Given the description of an element on the screen output the (x, y) to click on. 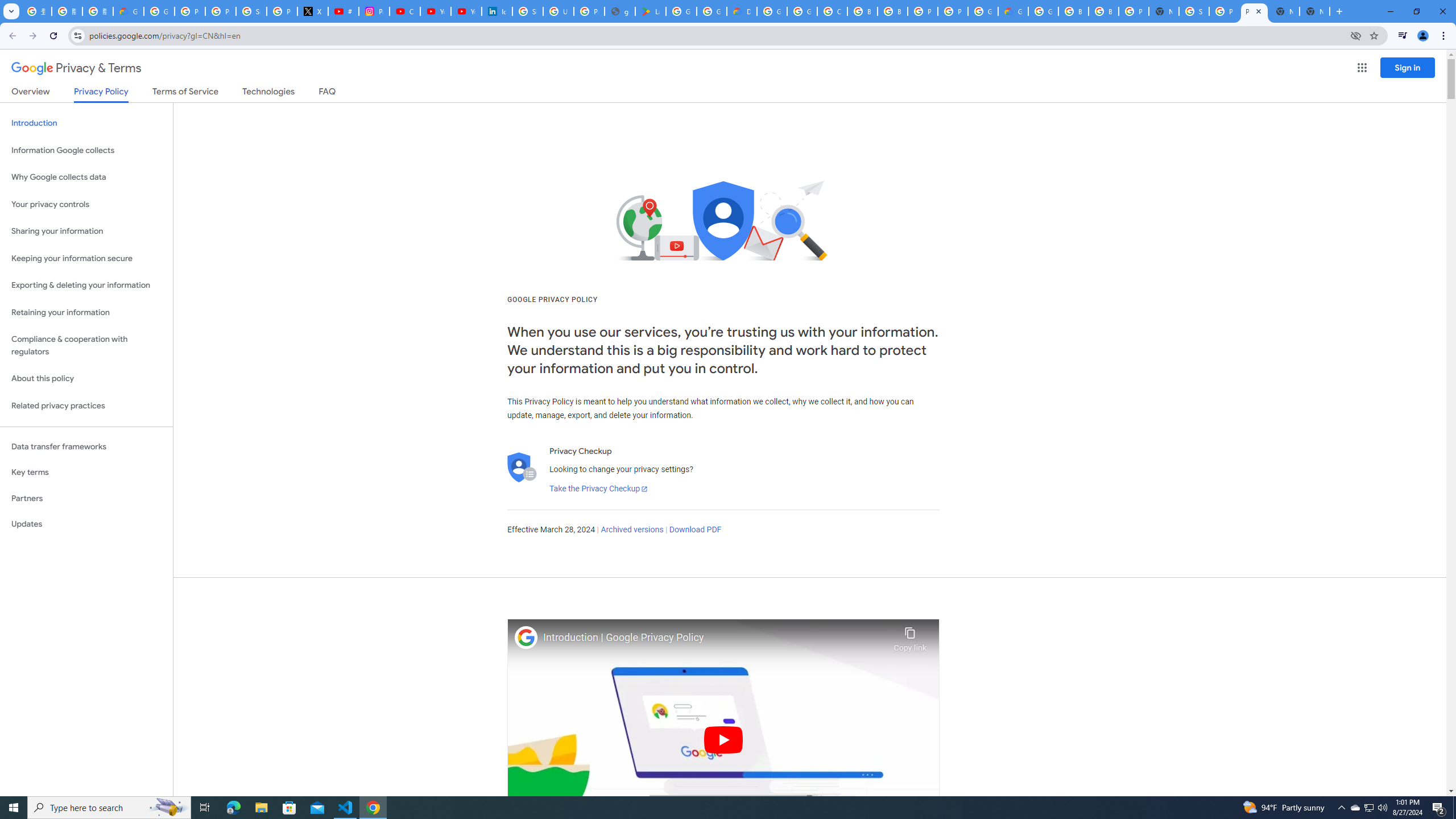
Photo image of Google (526, 636)
Sign in - Google Accounts (527, 11)
Take the Privacy Checkup (597, 488)
